Given the description of an element on the screen output the (x, y) to click on. 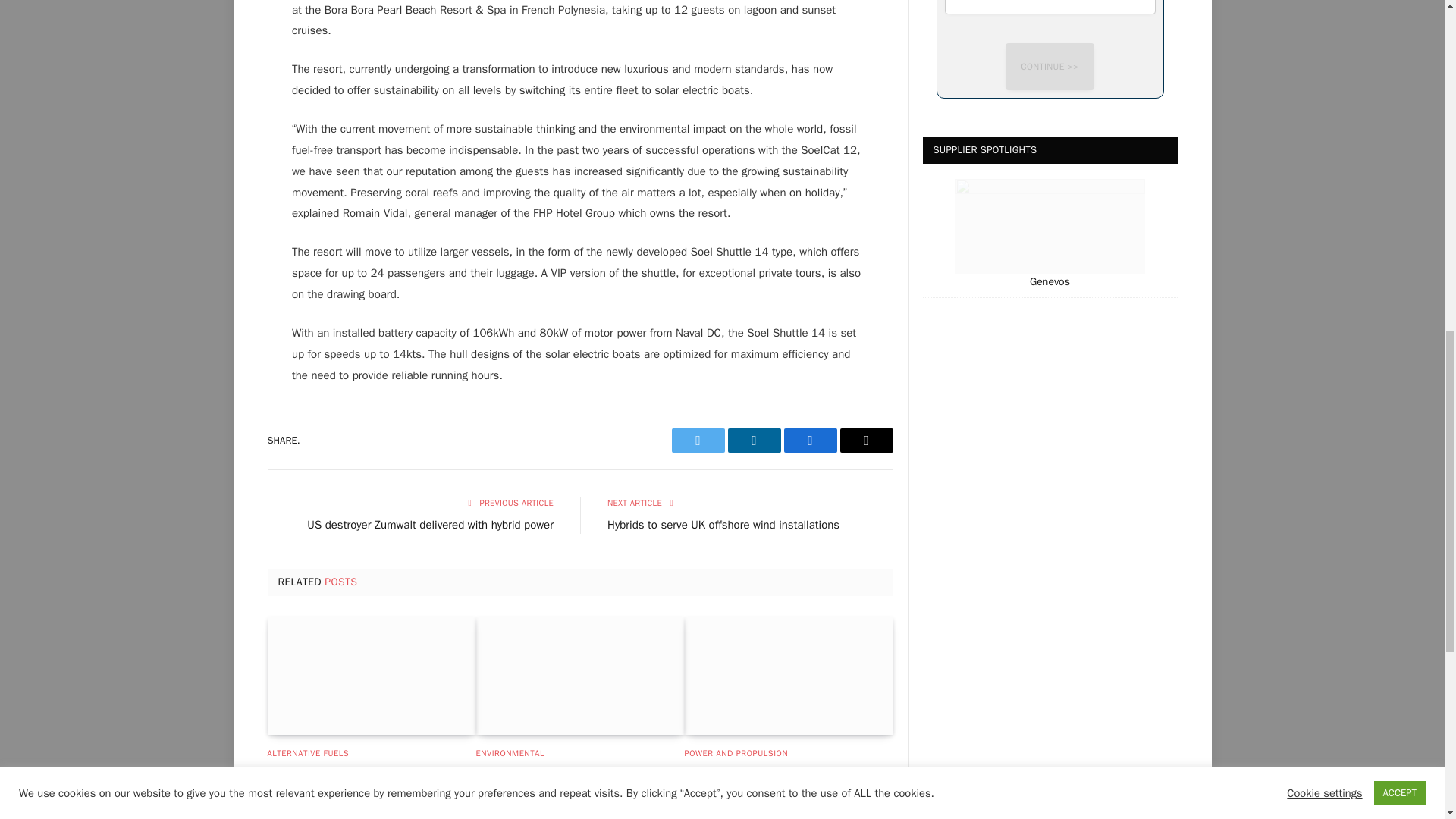
Share on Twitter (698, 440)
Share on LinkedIn (754, 440)
